Given the description of an element on the screen output the (x, y) to click on. 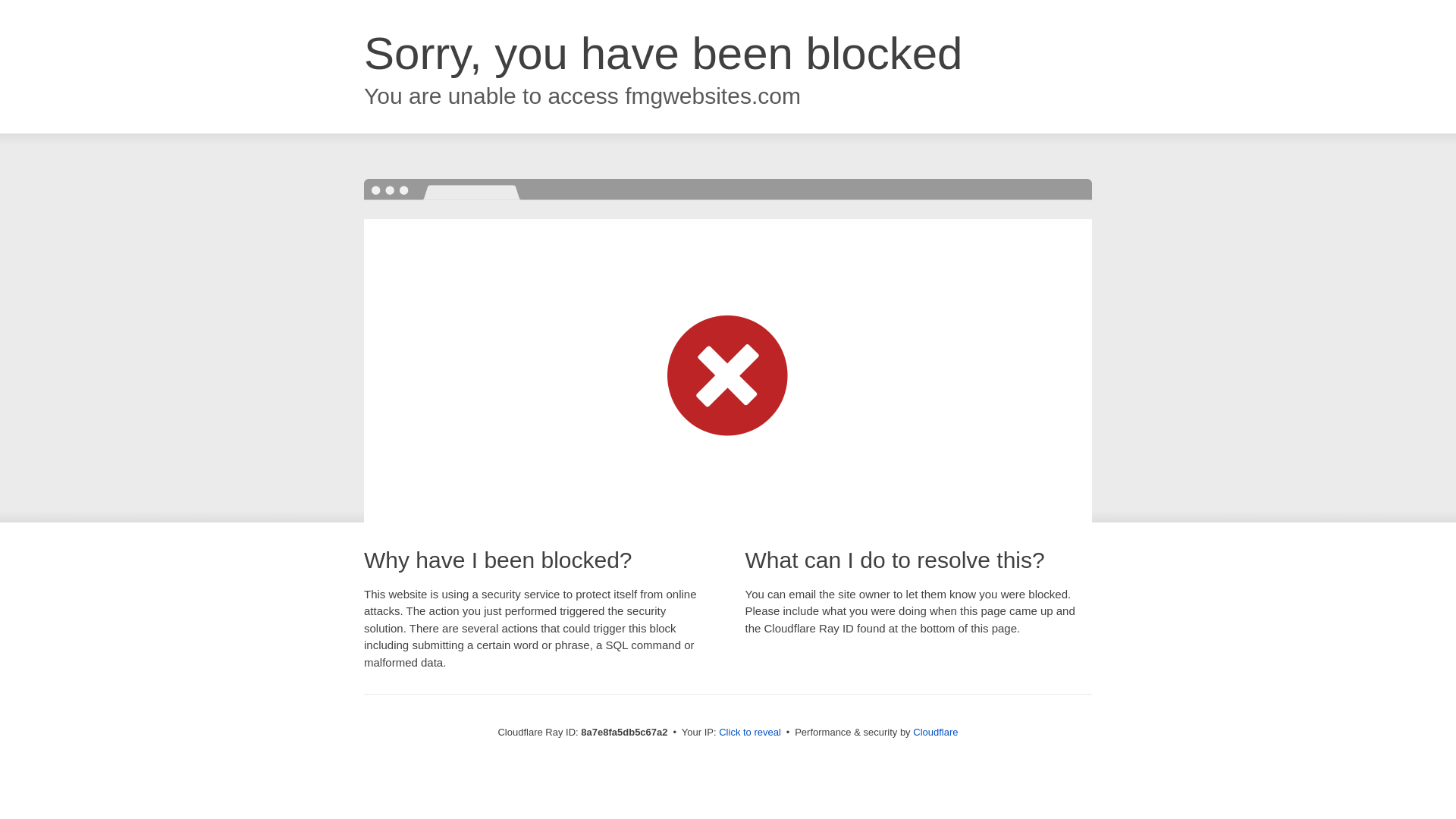
Cloudflare (935, 731)
Click to reveal (749, 732)
